Given the description of an element on the screen output the (x, y) to click on. 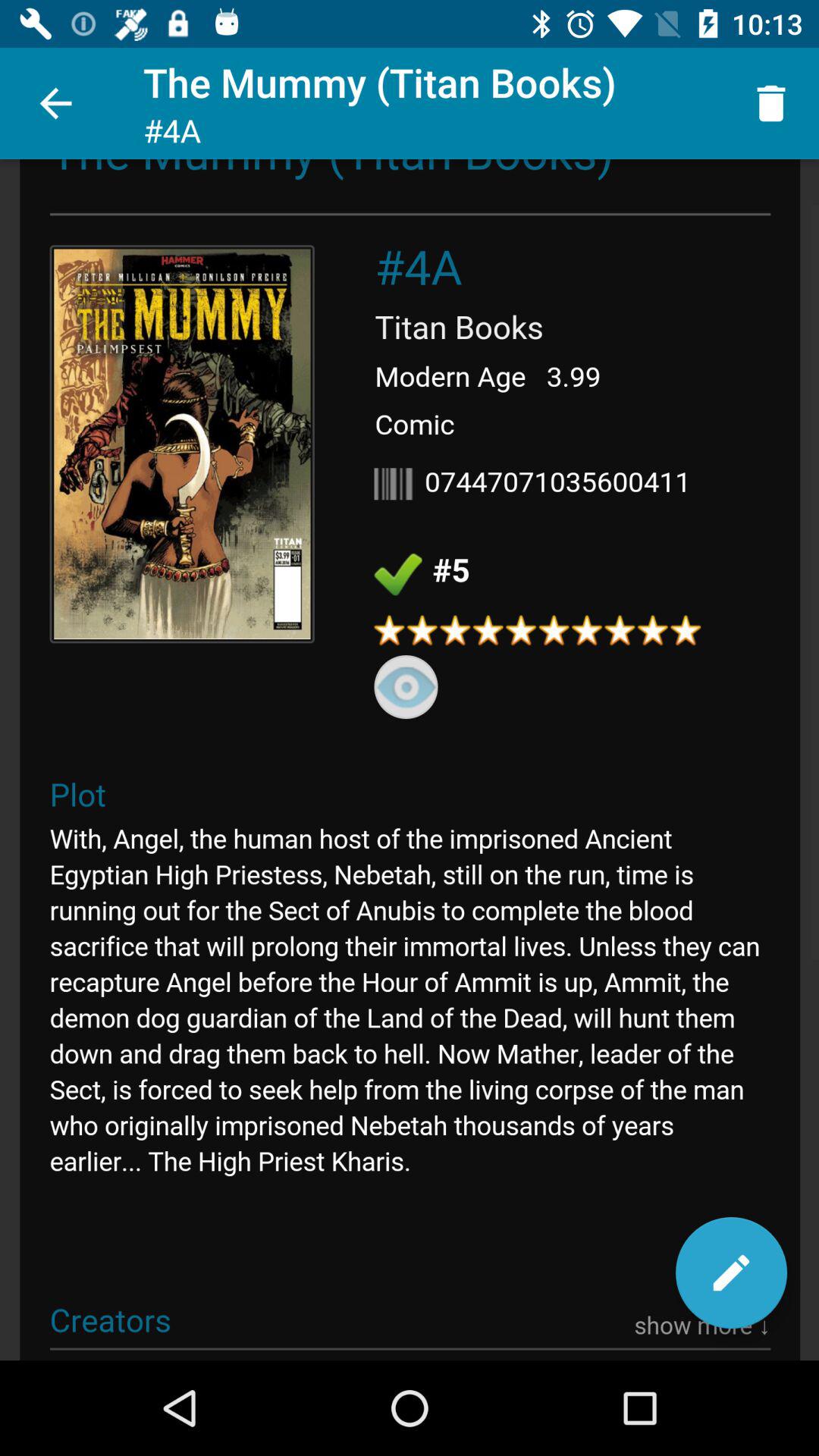
tap the item to the left of the the mummy titan (55, 103)
